Given the description of an element on the screen output the (x, y) to click on. 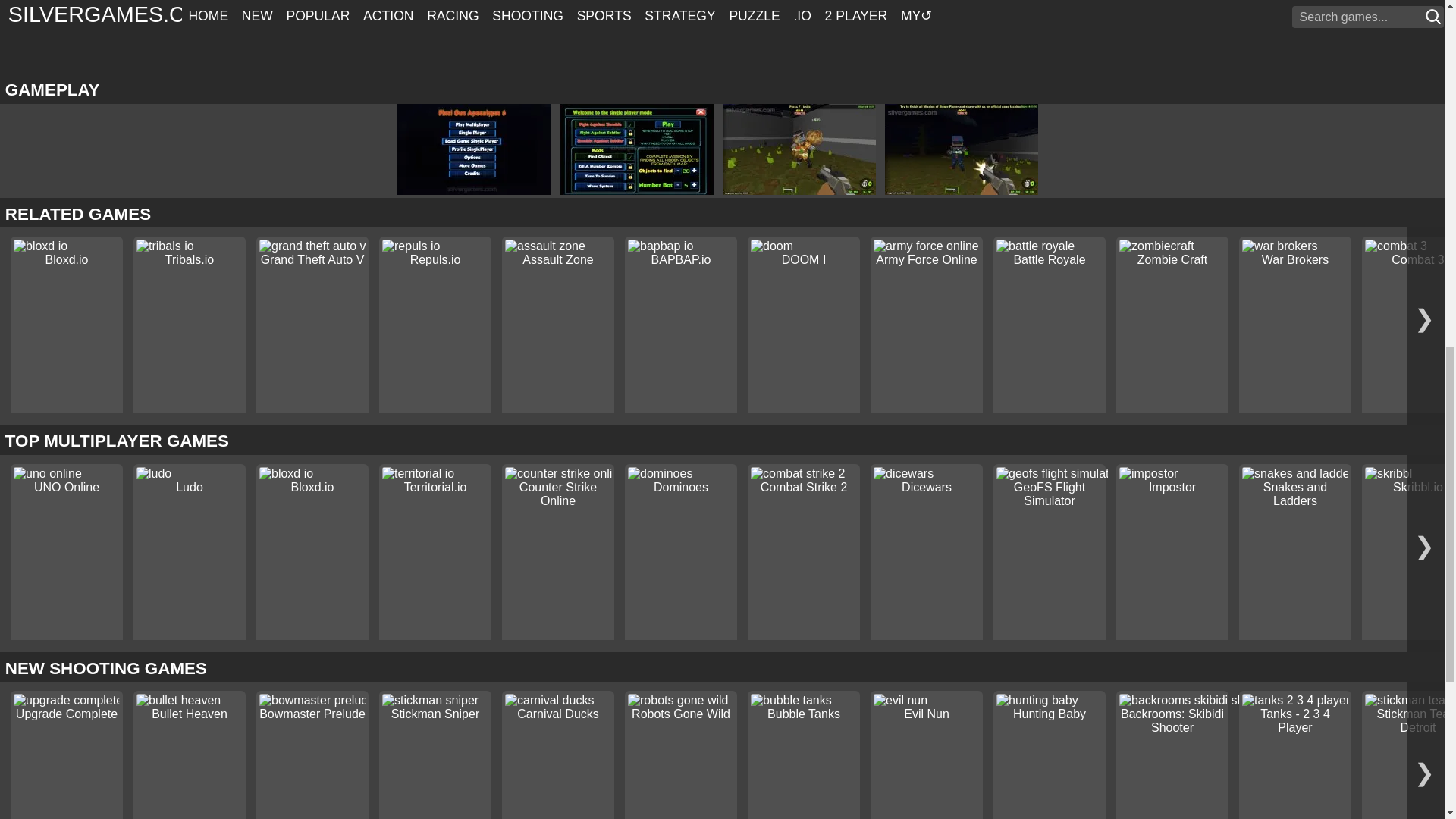
Assault Zone (557, 259)
Pixel Gun 3D: Menu (478, 190)
Bloxd.io (66, 259)
Tribals.io (189, 259)
Pixel Gun 3D: Gameplay Shooting Block Graphic (803, 190)
Pixel Gun 3D: Menu Shooting (640, 190)
Grand Theft Auto V (312, 259)
Pixel Gun 3D: Gameplay Shooter (965, 190)
DOOM I (804, 259)
BAPBAP.io (680, 259)
Repuls.io (435, 259)
